Given the description of an element on the screen output the (x, y) to click on. 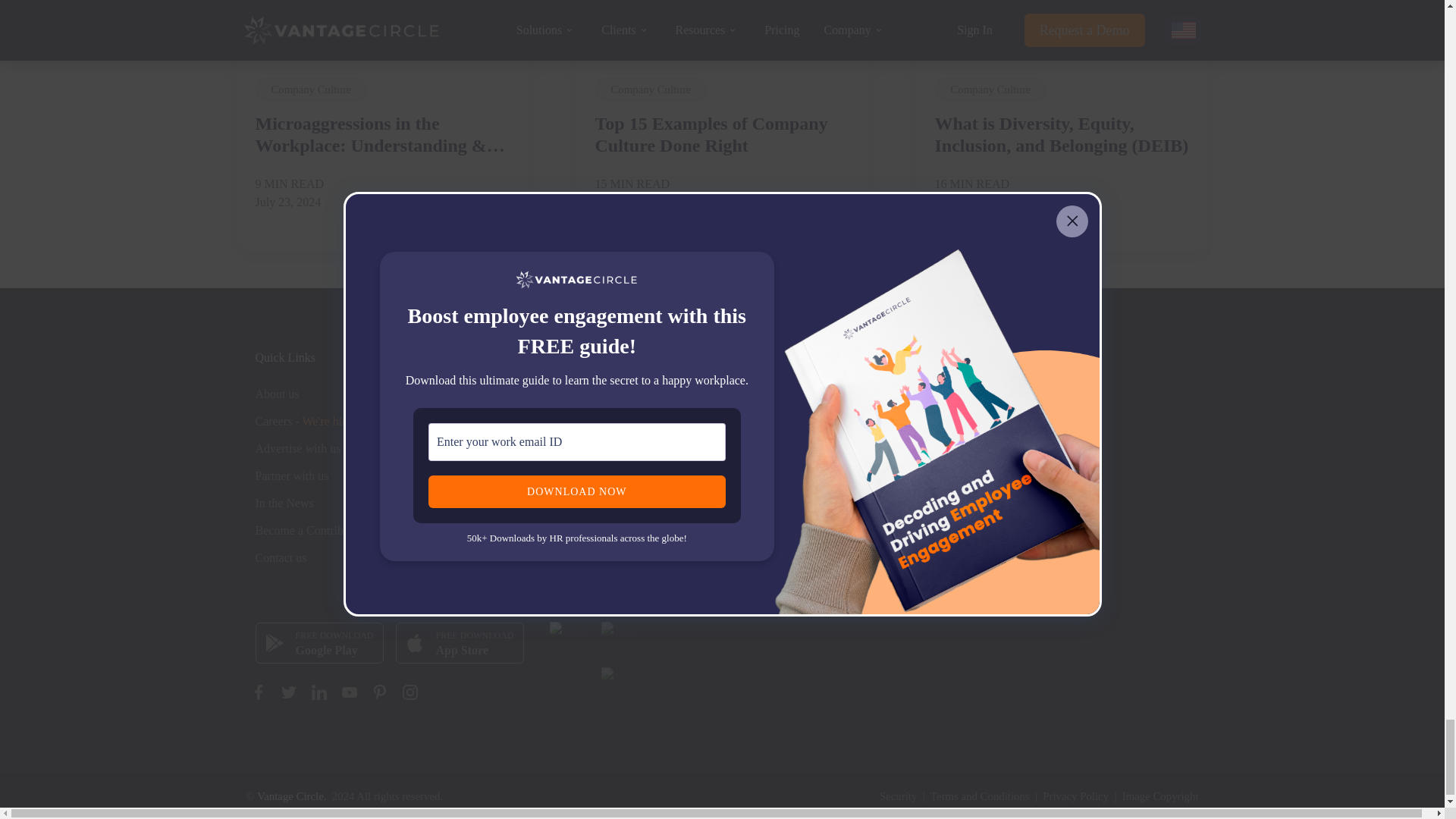
Top 15 Examples of Company Culture Done Right (722, 27)
Top 15 Examples of Company Culture Done Right (721, 135)
